Given the description of an element on the screen output the (x, y) to click on. 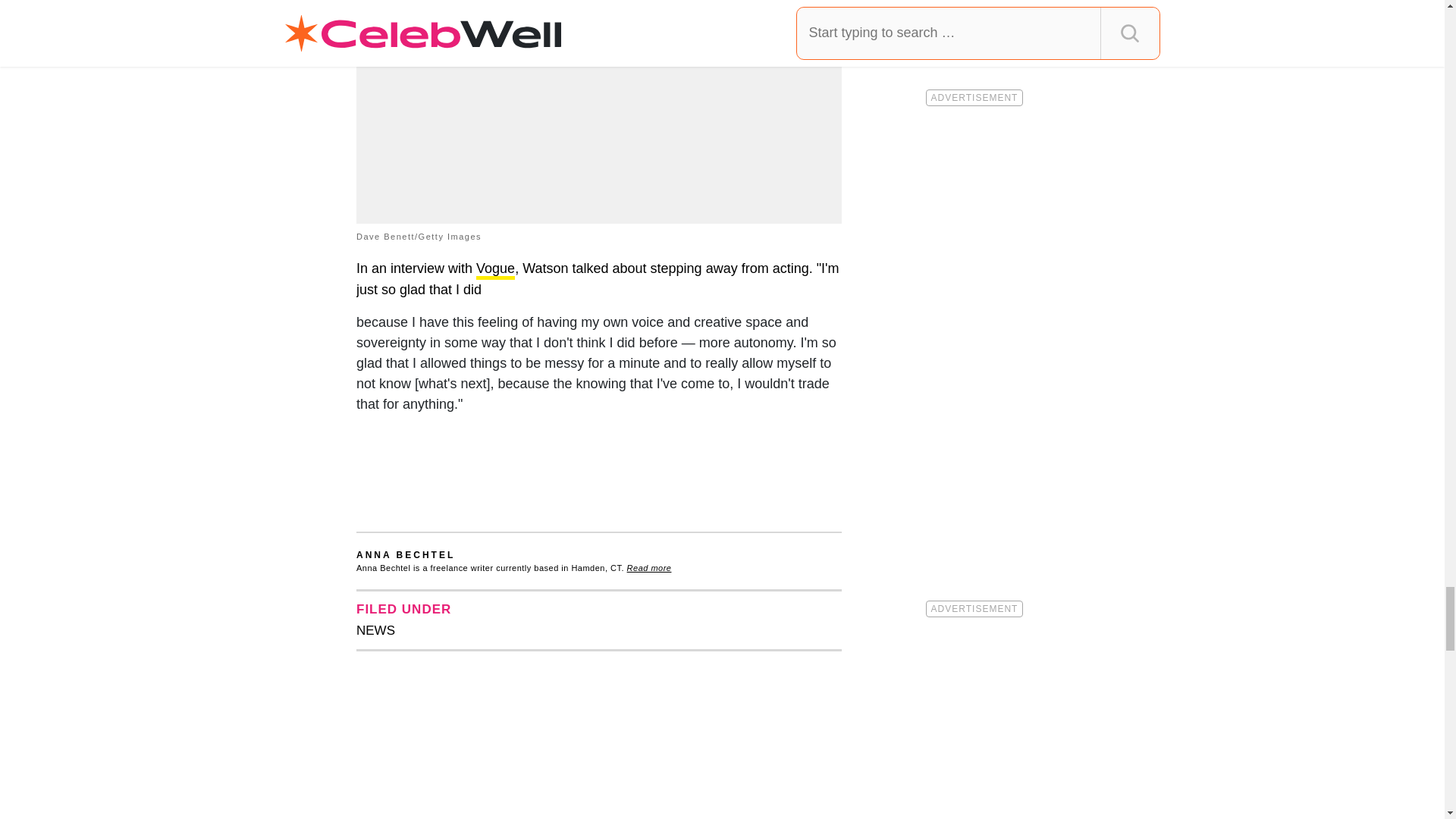
Vogue (495, 270)
NEWS (375, 630)
Read more (649, 567)
